Given the description of an element on the screen output the (x, y) to click on. 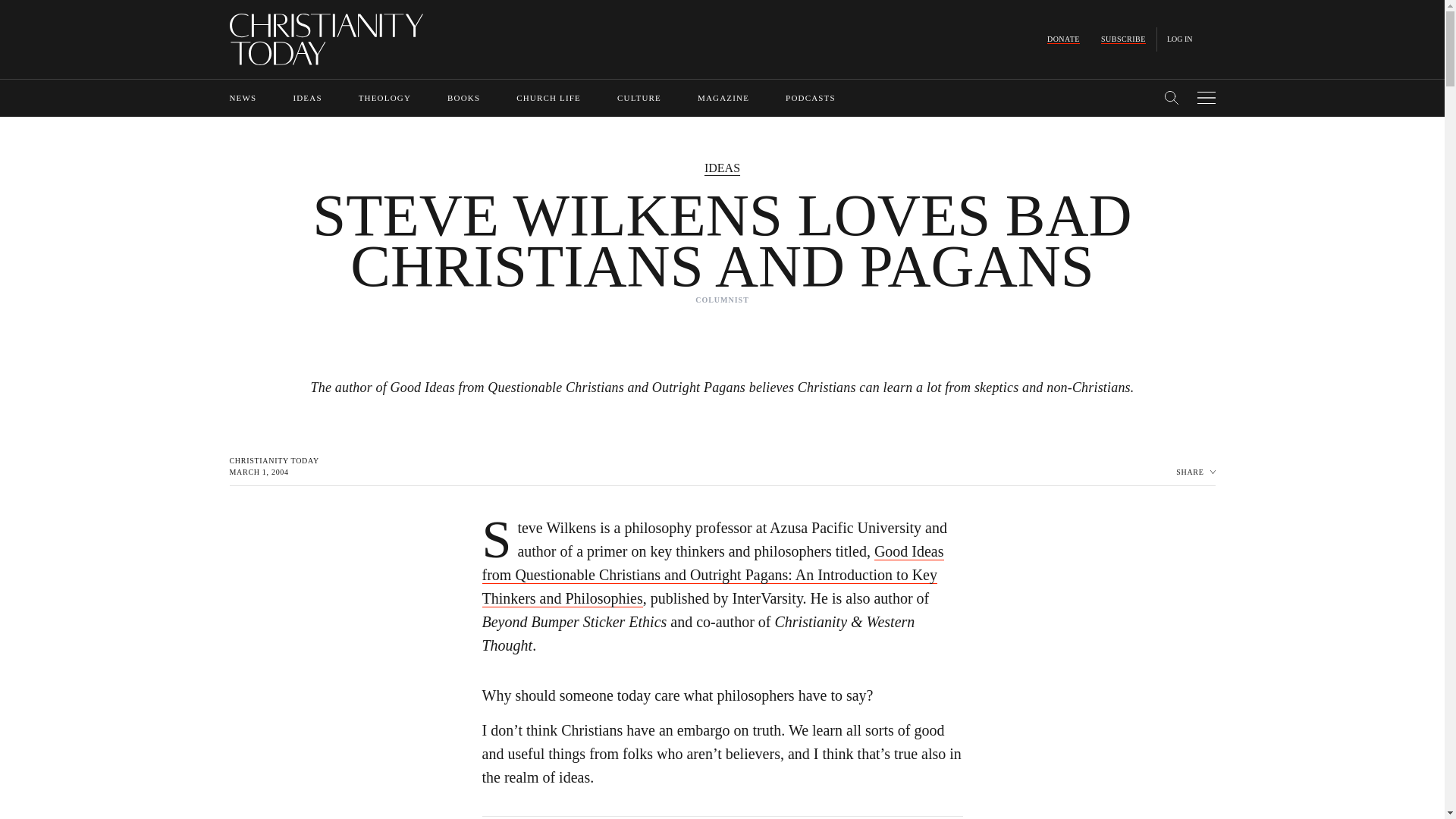
SUBSCRIBE (1122, 39)
NEWS (242, 97)
DONATE (1063, 39)
MAGAZINE (723, 97)
BOOKS (463, 97)
CHURCH LIFE (548, 97)
PODCASTS (810, 97)
IDEAS (306, 97)
CULTURE (639, 97)
THEOLOGY (384, 97)
